Given the description of an element on the screen output the (x, y) to click on. 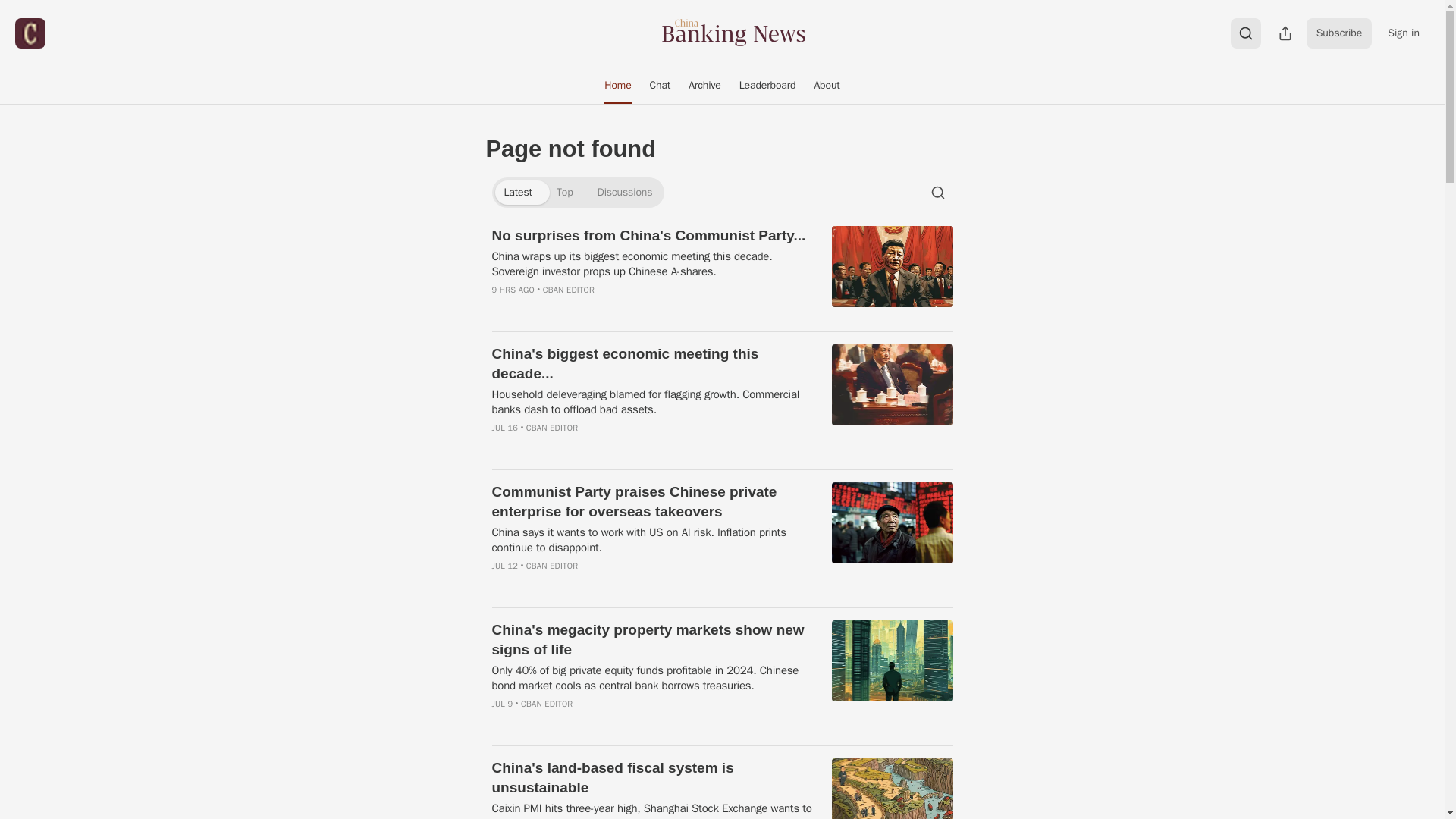
CBAN EDITOR (568, 289)
Discussions (625, 192)
China's biggest economic meeting this decade... (652, 363)
Chat (659, 85)
CBAN EDITOR (551, 427)
No surprises from China's Communist Party... (652, 235)
Latest (517, 192)
Archive (704, 85)
Home (617, 85)
About (826, 85)
Sign in (1403, 33)
Leaderboard (767, 85)
